Given the description of an element on the screen output the (x, y) to click on. 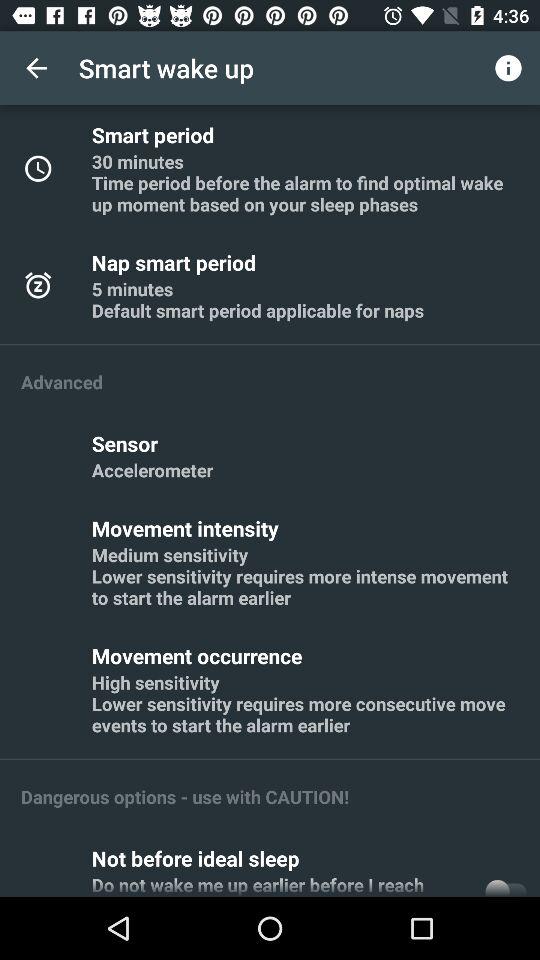
select item above the medium sensitivity lower item (188, 528)
